Given the description of an element on the screen output the (x, y) to click on. 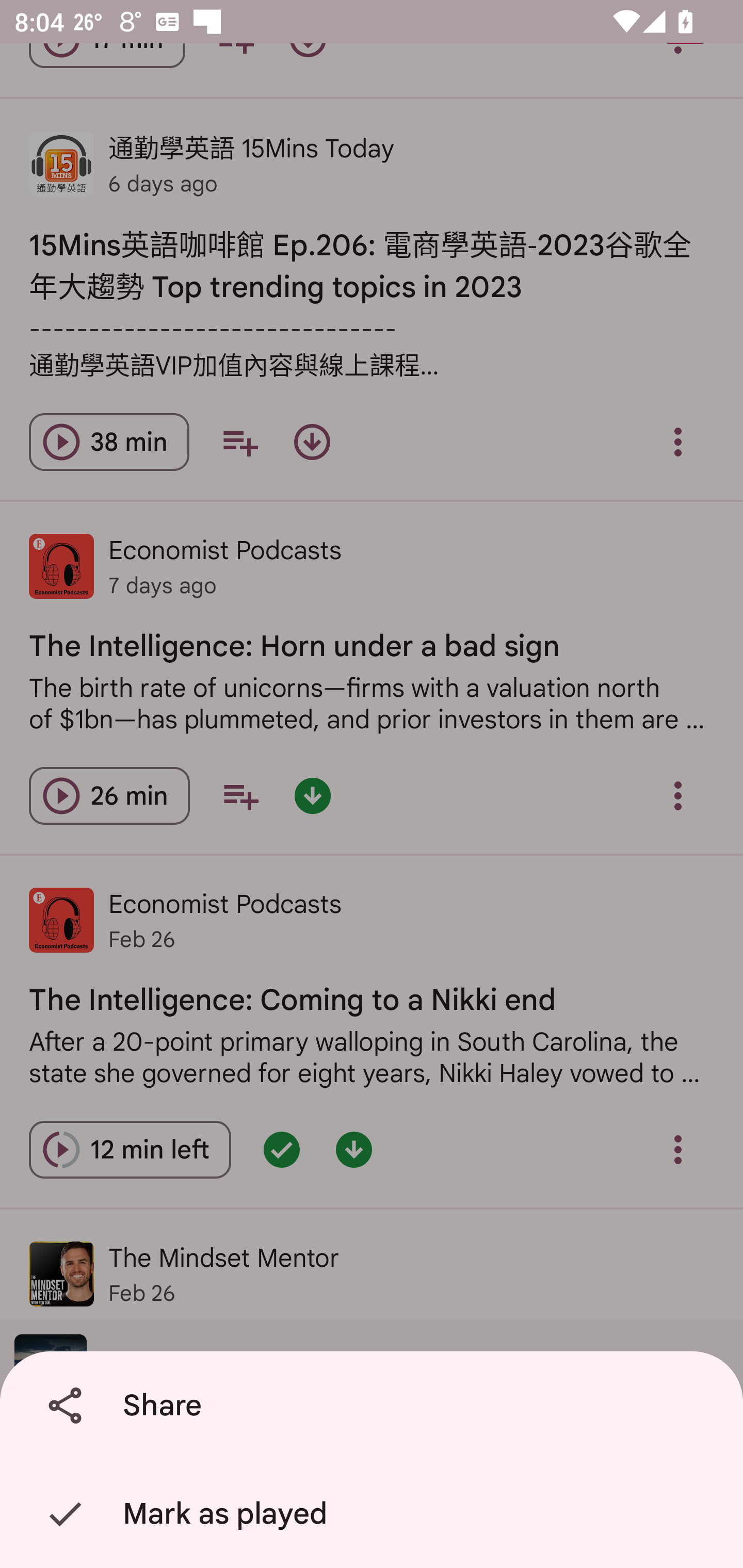
Share (375, 1405)
Mark as played (375, 1513)
